Given the description of an element on the screen output the (x, y) to click on. 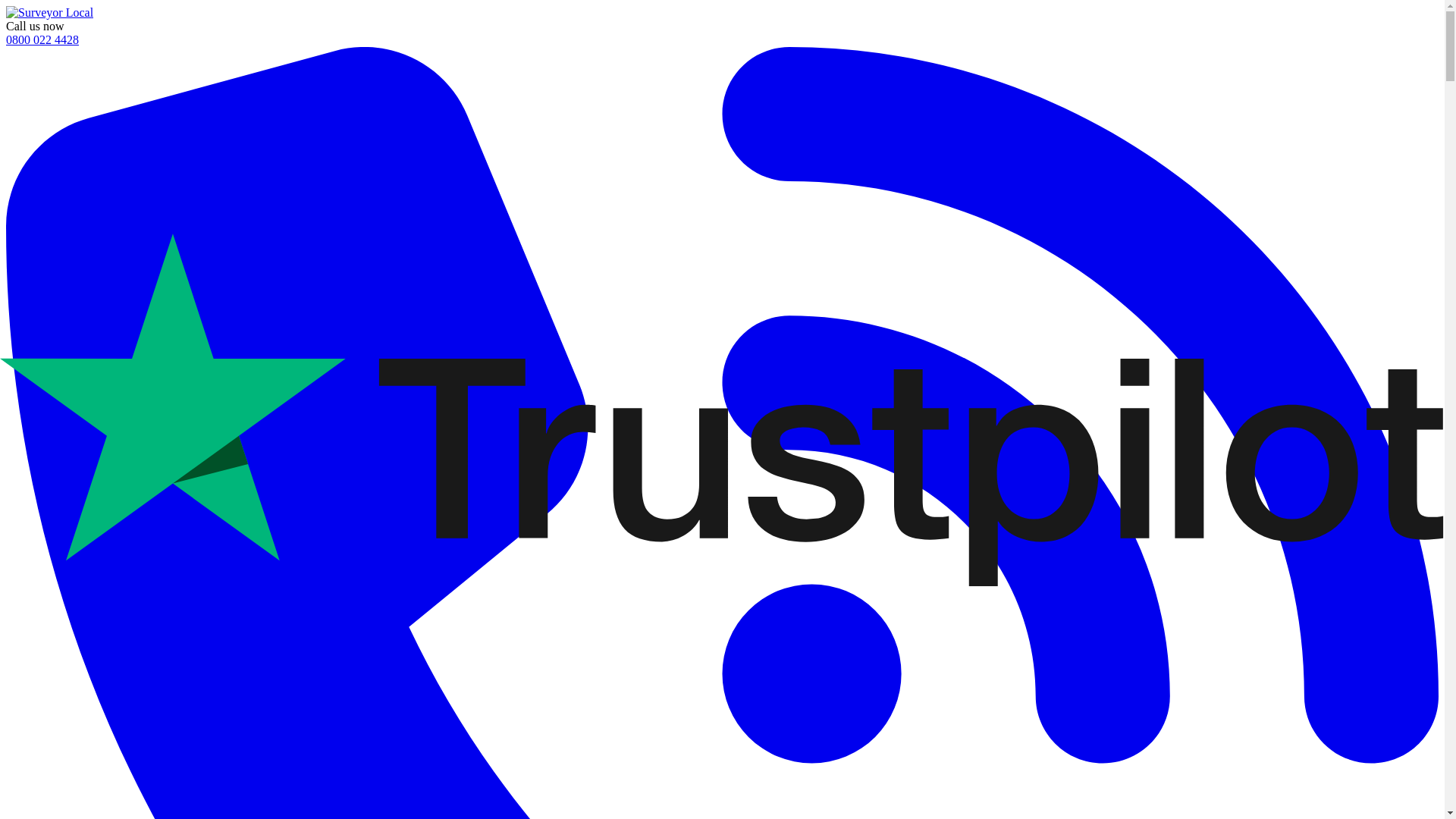
Surveyor Local (49, 12)
Go to Homepage (49, 11)
